Given the description of an element on the screen output the (x, y) to click on. 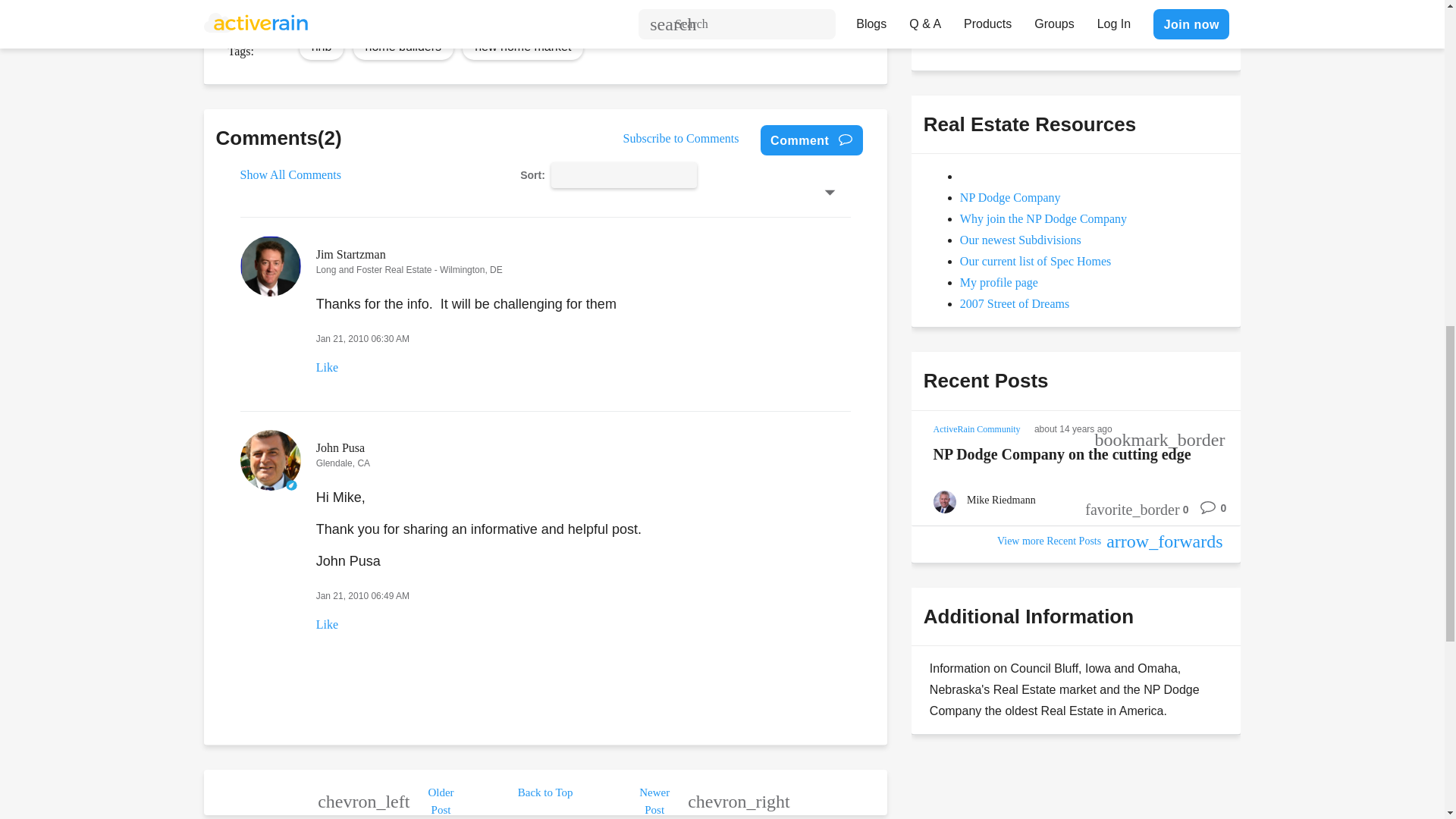
My profile page (998, 282)
Why join the NP Dodge Company (1042, 218)
NP Dodge Company (1010, 196)
nhb (321, 45)
Our newest Subdivisions (1020, 239)
Our current list of Spec Homes (1035, 260)
home builders (403, 45)
2007 Street of Dreams (1013, 303)
Send Message (978, 30)
